Given the description of an element on the screen output the (x, y) to click on. 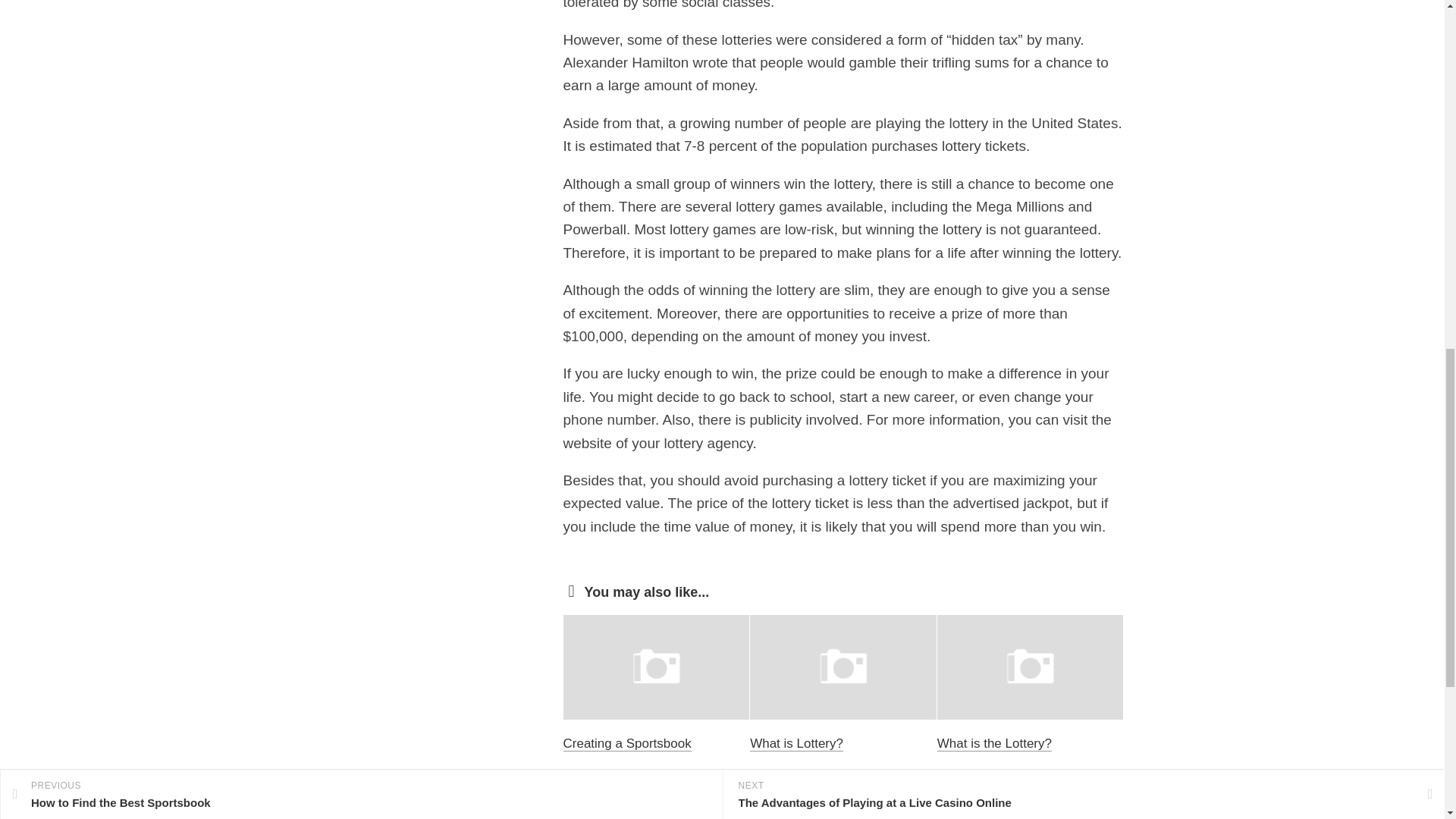
What Is a Sportsbook? (814, 743)
Slot Machines and Slot Receivers (628, 752)
